Given the description of an element on the screen output the (x, y) to click on. 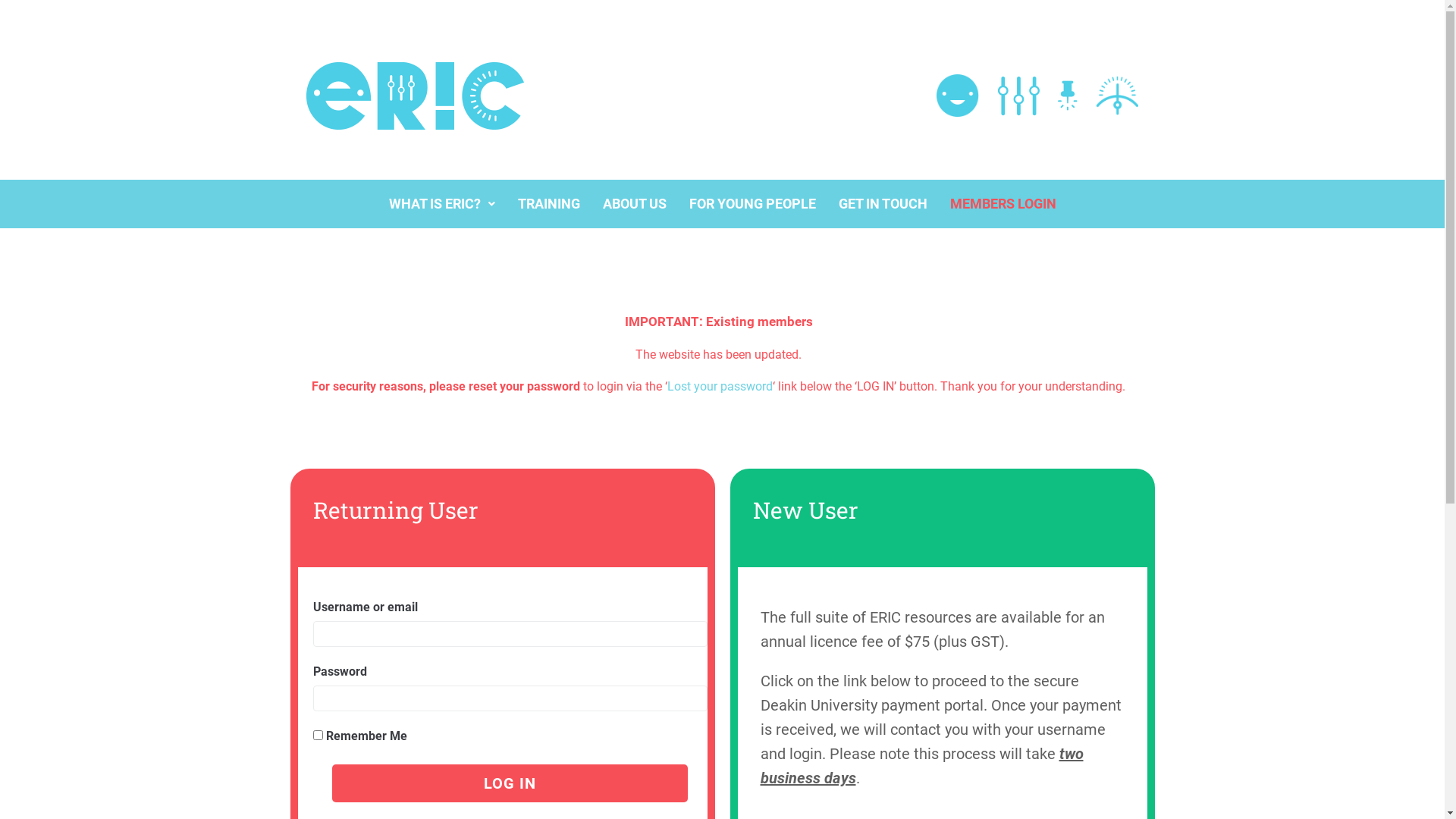
MEMBERS LOGIN Element type: text (1002, 203)
Lost your password Element type: text (719, 386)
WHAT IS ERIC? Element type: text (441, 203)
GET IN TOUCH Element type: text (882, 203)
TRAINING Element type: text (548, 203)
ABOUT US Element type: text (634, 203)
FOR YOUNG PEOPLE Element type: text (752, 203)
Log In Element type: text (509, 783)
